Given the description of an element on the screen output the (x, y) to click on. 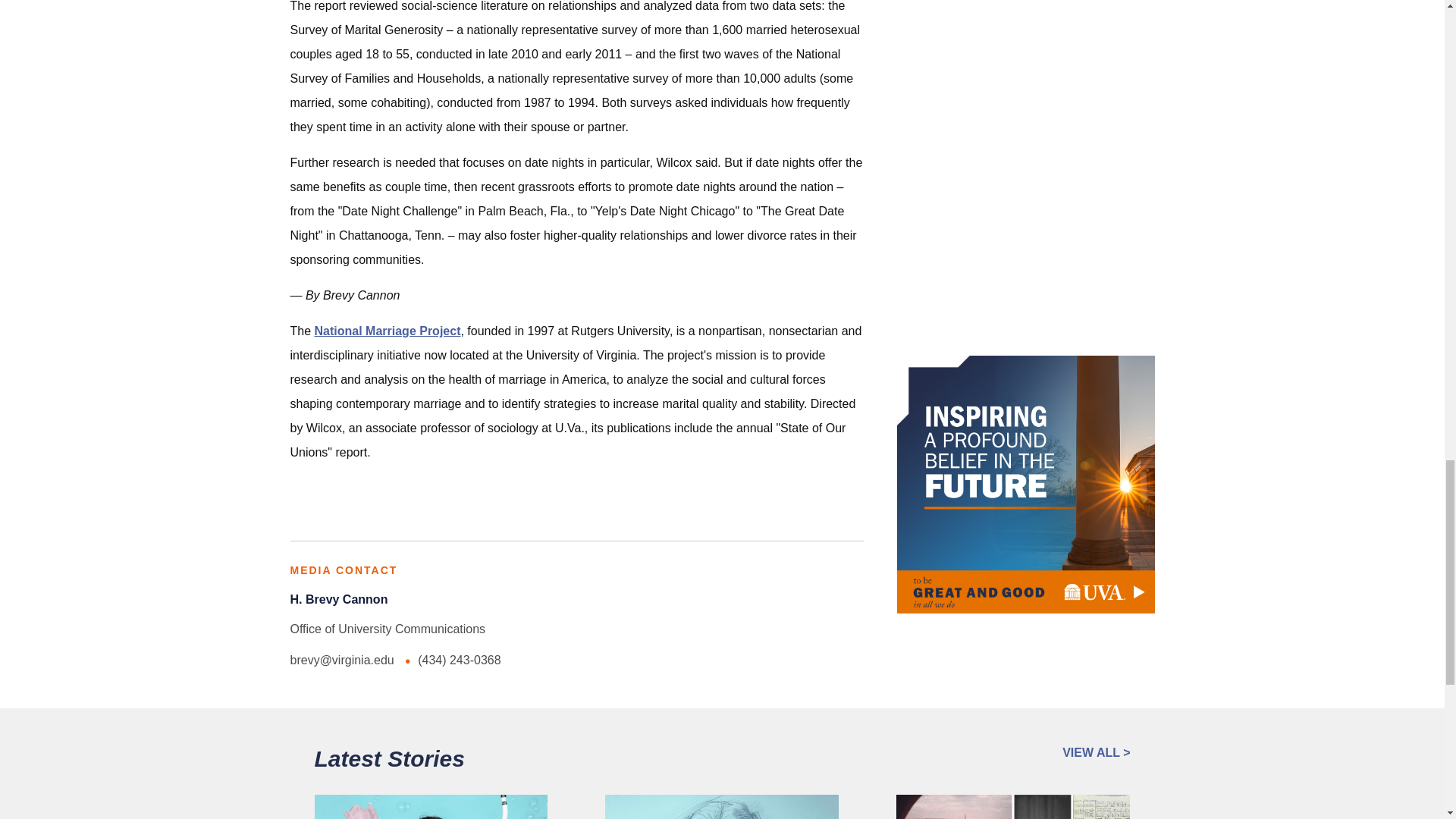
H. Brevy Cannon (338, 599)
National Marriage Project (387, 330)
